Given the description of an element on the screen output the (x, y) to click on. 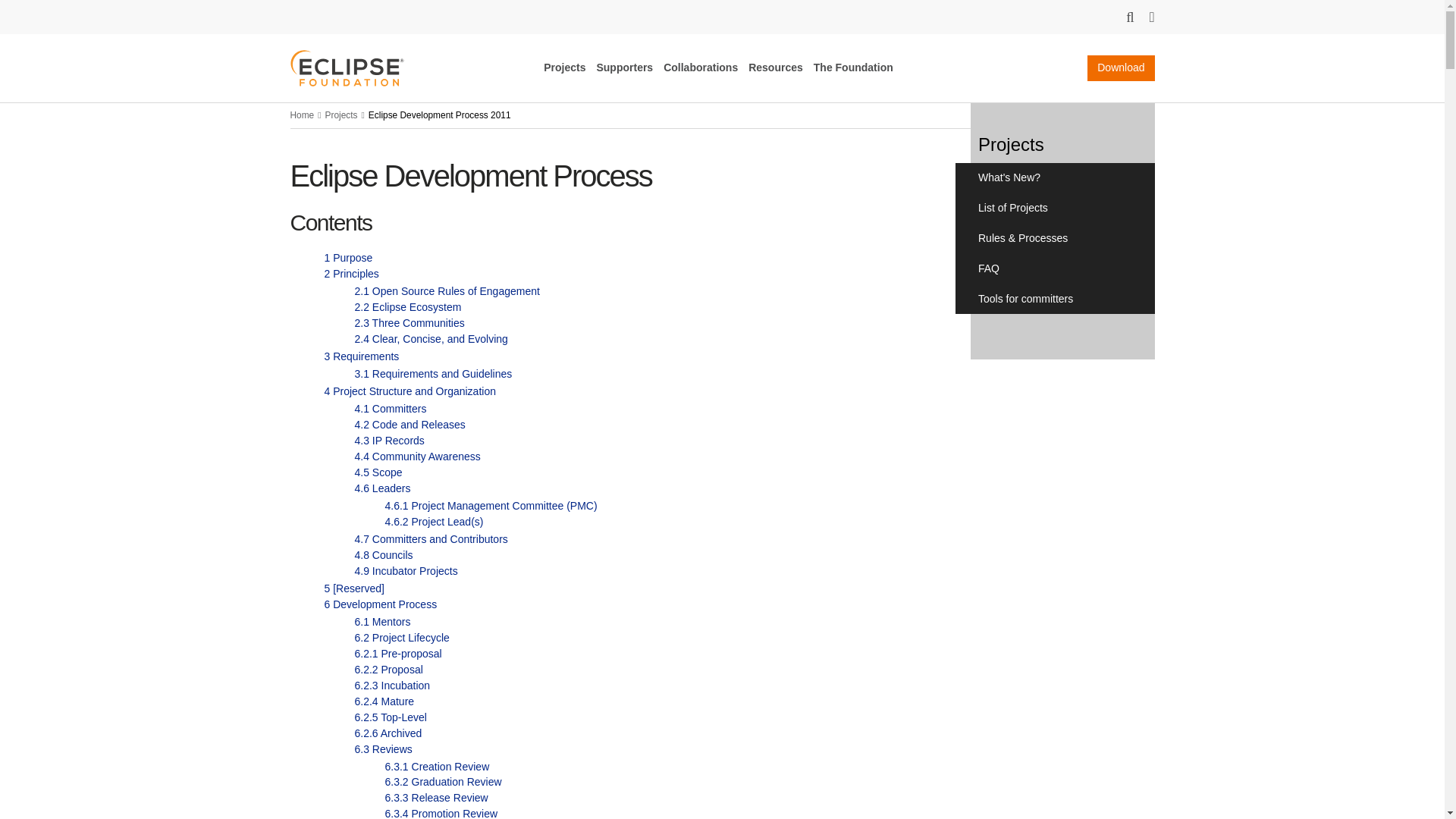
Projects (563, 67)
Supporters (623, 67)
Collaborations (700, 67)
Download (1120, 68)
The Foundation (853, 67)
Resources (775, 67)
